Given the description of an element on the screen output the (x, y) to click on. 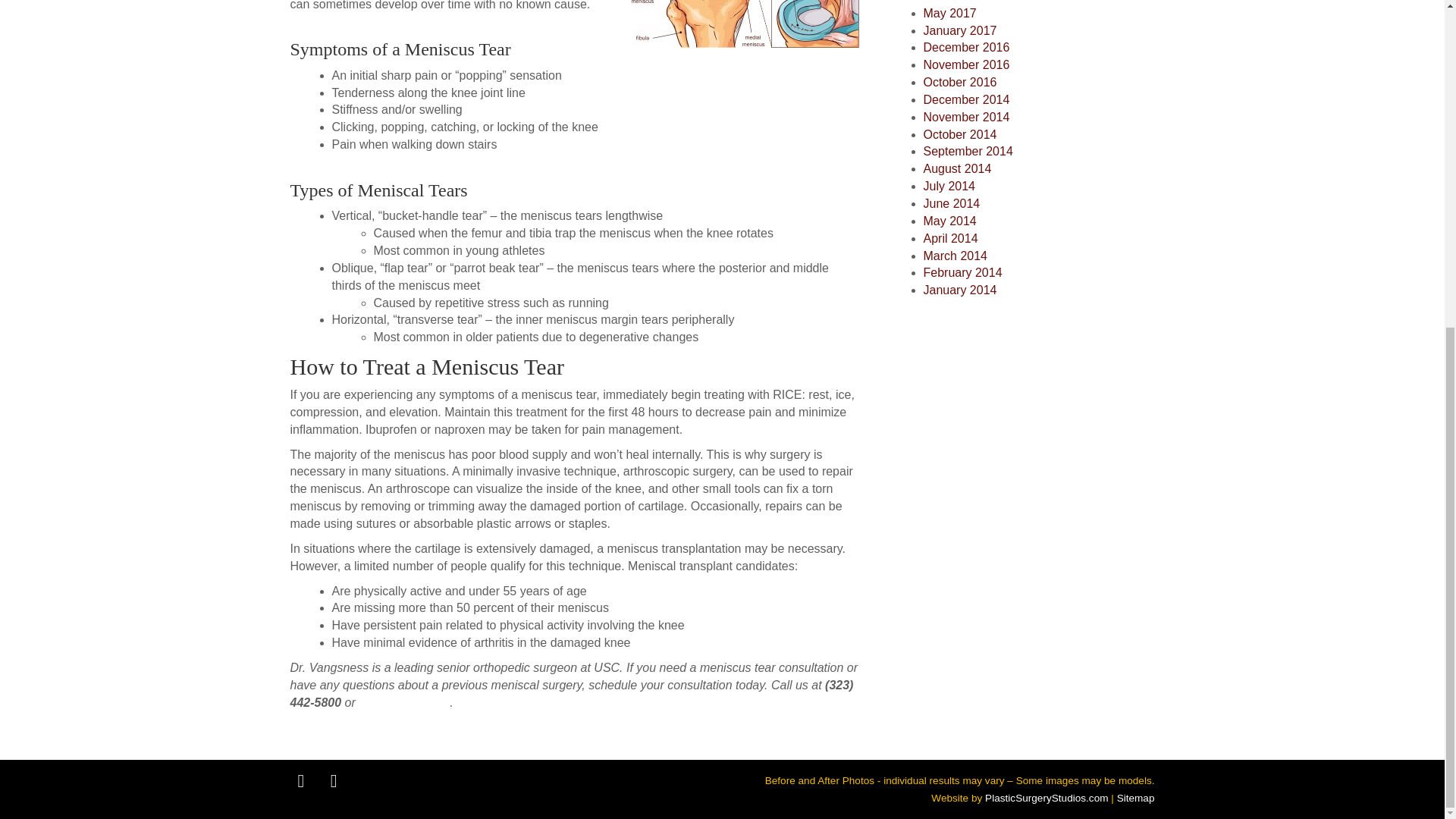
November 2016 (966, 64)
August 2014 (957, 168)
contact us online (403, 702)
July 2014 (949, 185)
October 2014 (960, 133)
December 2014 (966, 99)
December 2016 (966, 47)
January 2017 (960, 30)
November 2014 (966, 116)
June 2017 (951, 1)
May 2017 (949, 12)
June 2014 (951, 203)
September 2014 (968, 151)
April 2014 (950, 237)
May 2014 (949, 220)
